Given the description of an element on the screen output the (x, y) to click on. 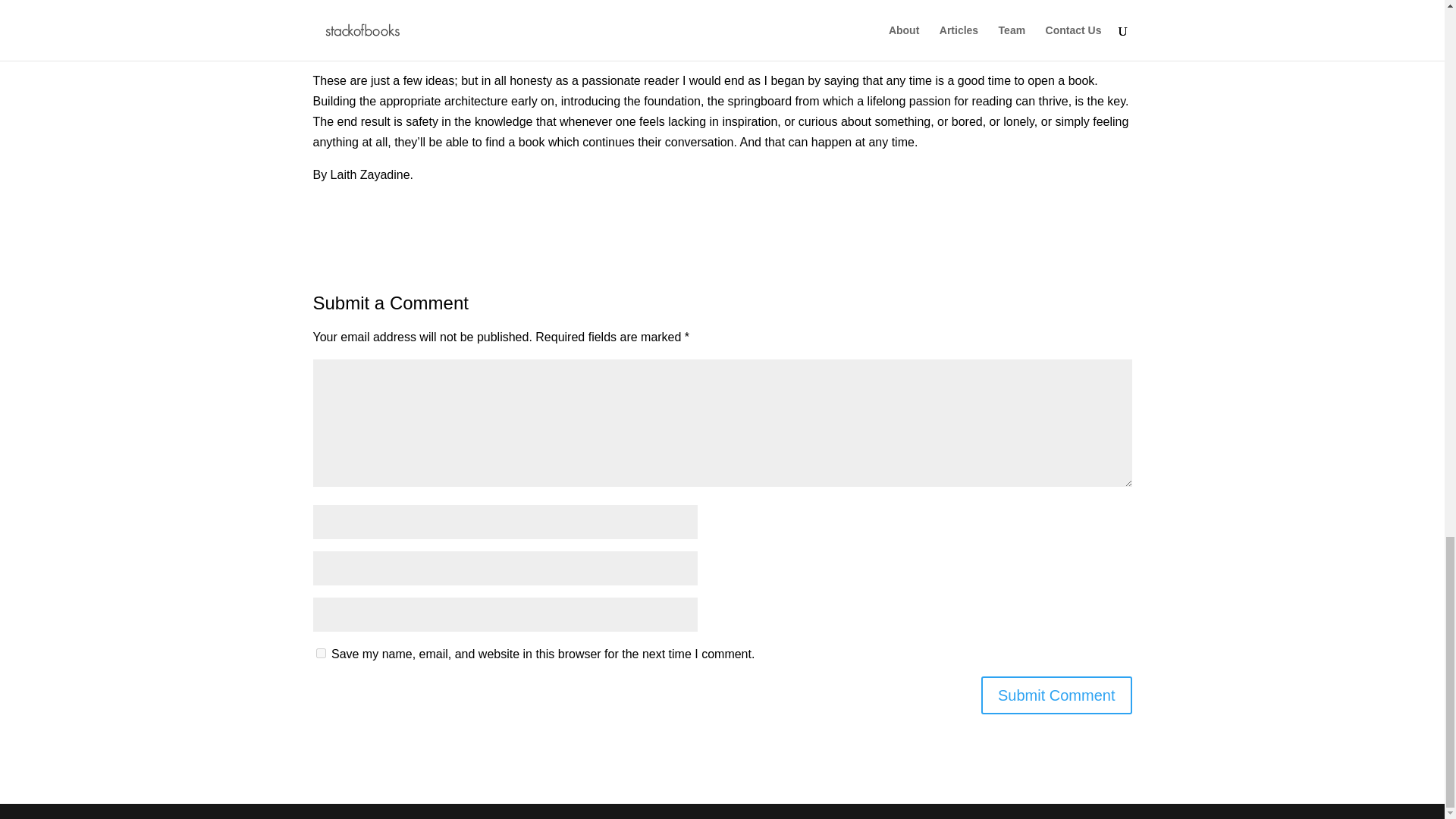
Submit Comment (1056, 695)
Submit Comment (1056, 695)
yes (319, 653)
